Given the description of an element on the screen output the (x, y) to click on. 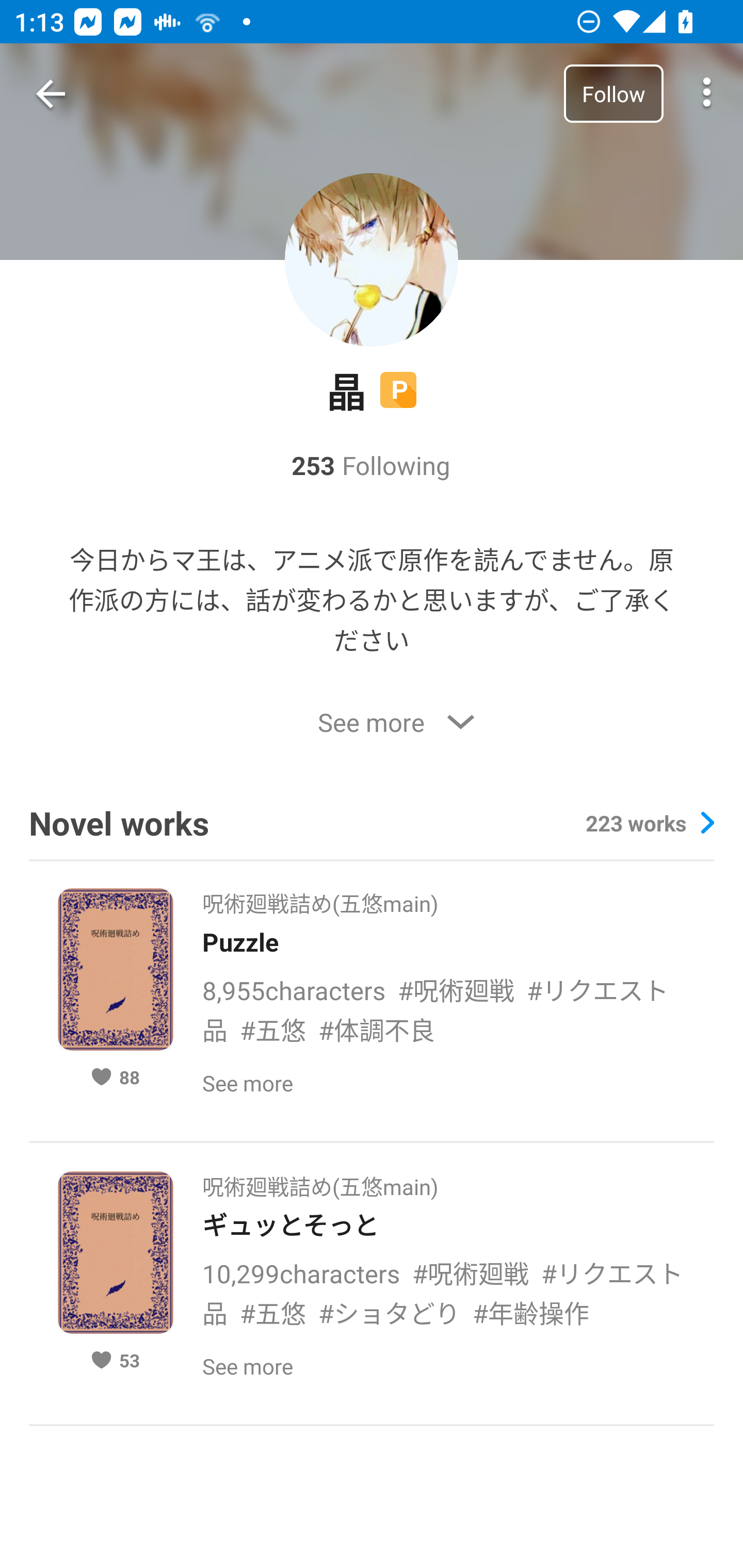
Navigate up (50, 93)
More options (706, 93)
Follow (613, 93)
253 Following (371, 465)
See more (371, 722)
223 works (649, 822)
呪術廻戦詰め(五悠main) (320, 897)
呪術廻戦詰め(五悠main) (320, 1180)
